Given the description of an element on the screen output the (x, y) to click on. 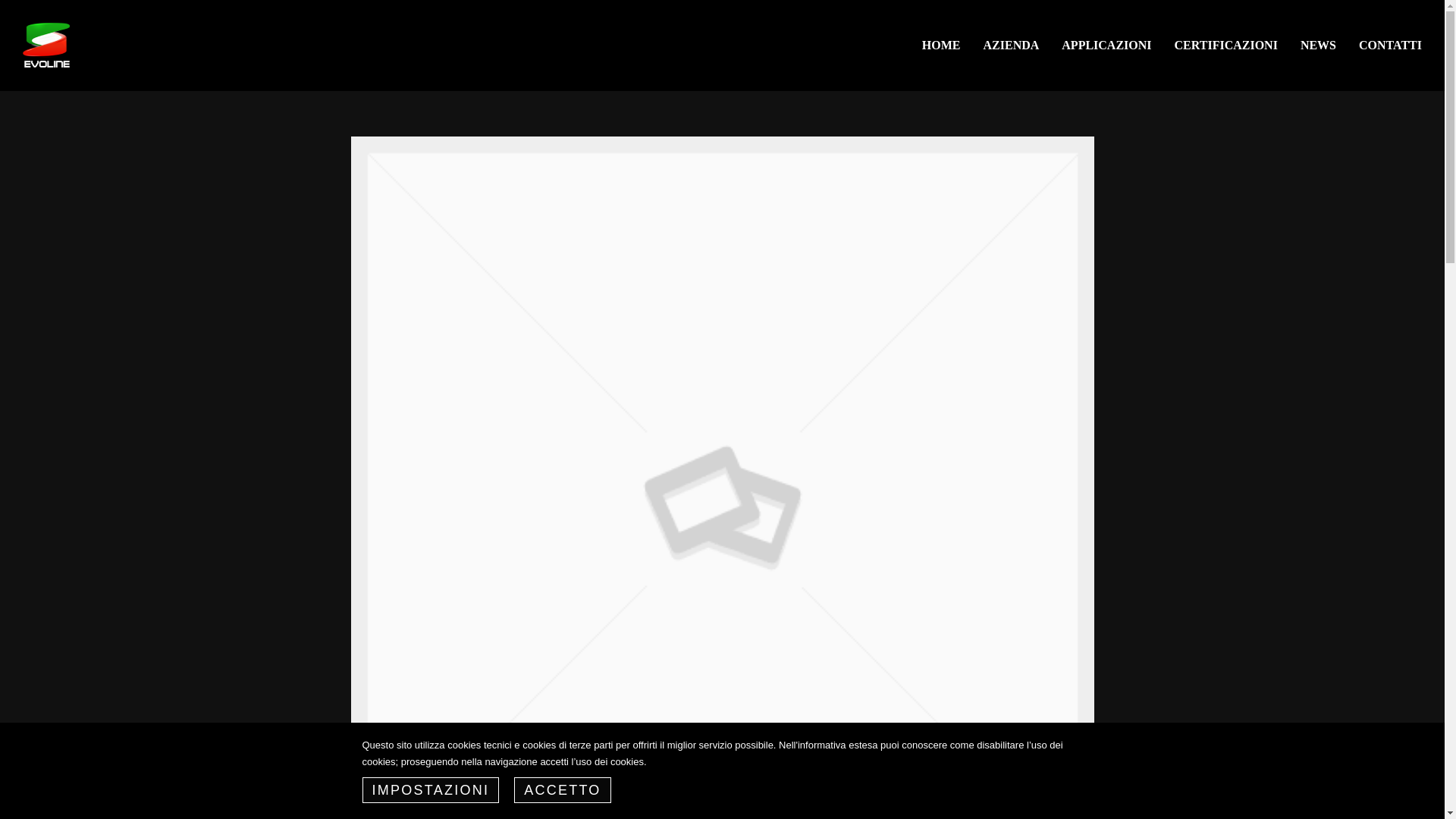
AZIENDA (1011, 45)
HOME (941, 45)
Evoline (46, 43)
CONTATTI (1390, 45)
CERTIFICAZIONI (1225, 45)
APPLICAZIONI (1105, 45)
NEWS (1318, 45)
IMPOSTAZIONI (430, 790)
ACCETTO (561, 790)
